Given the description of an element on the screen output the (x, y) to click on. 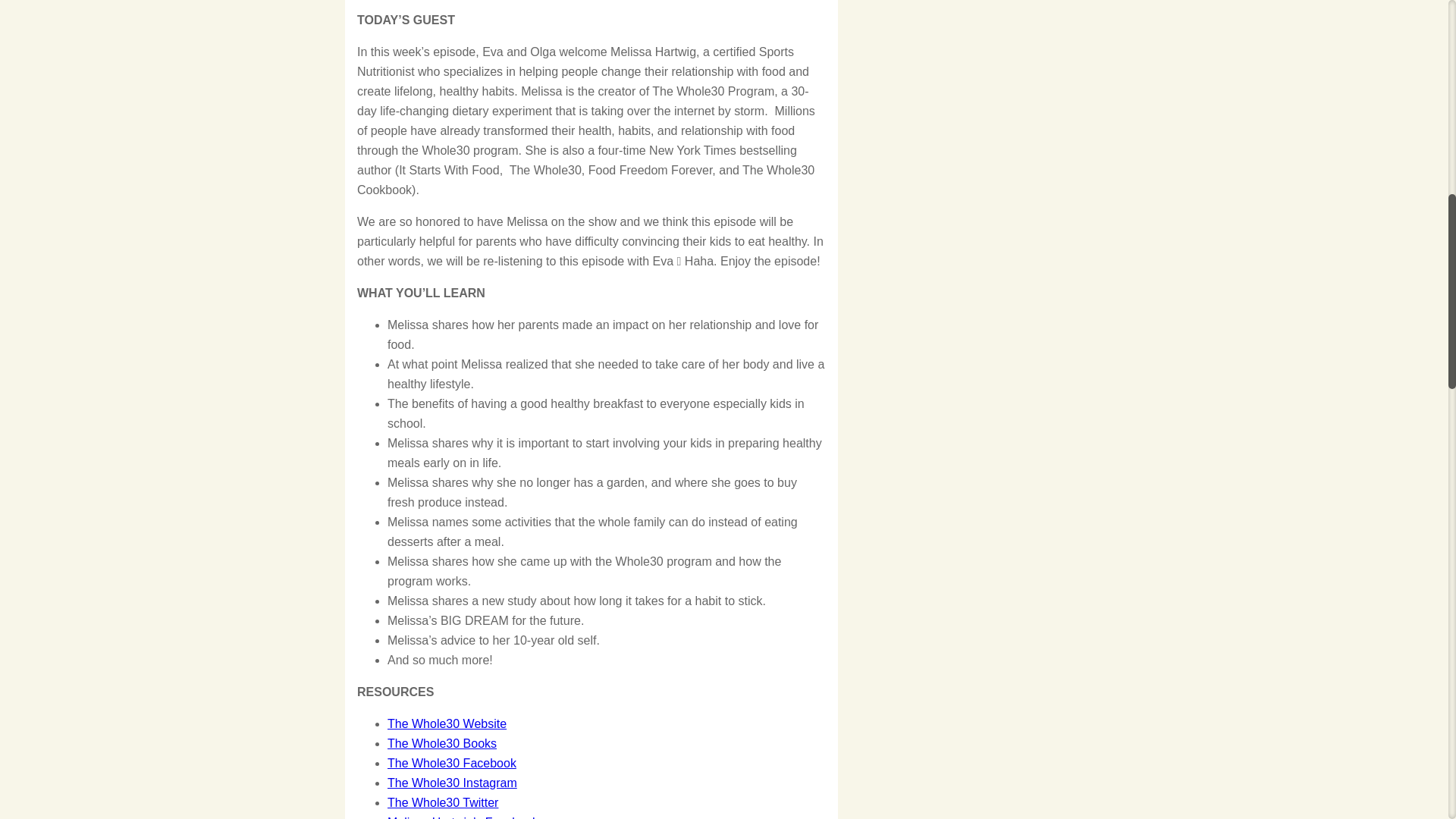
The Whole30 Website (446, 723)
The Whole30 Twitter (442, 802)
The Whole30 Facebook (451, 762)
The Whole30 Books (441, 743)
The Whole30 Instagram (451, 782)
